Given the description of an element on the screen output the (x, y) to click on. 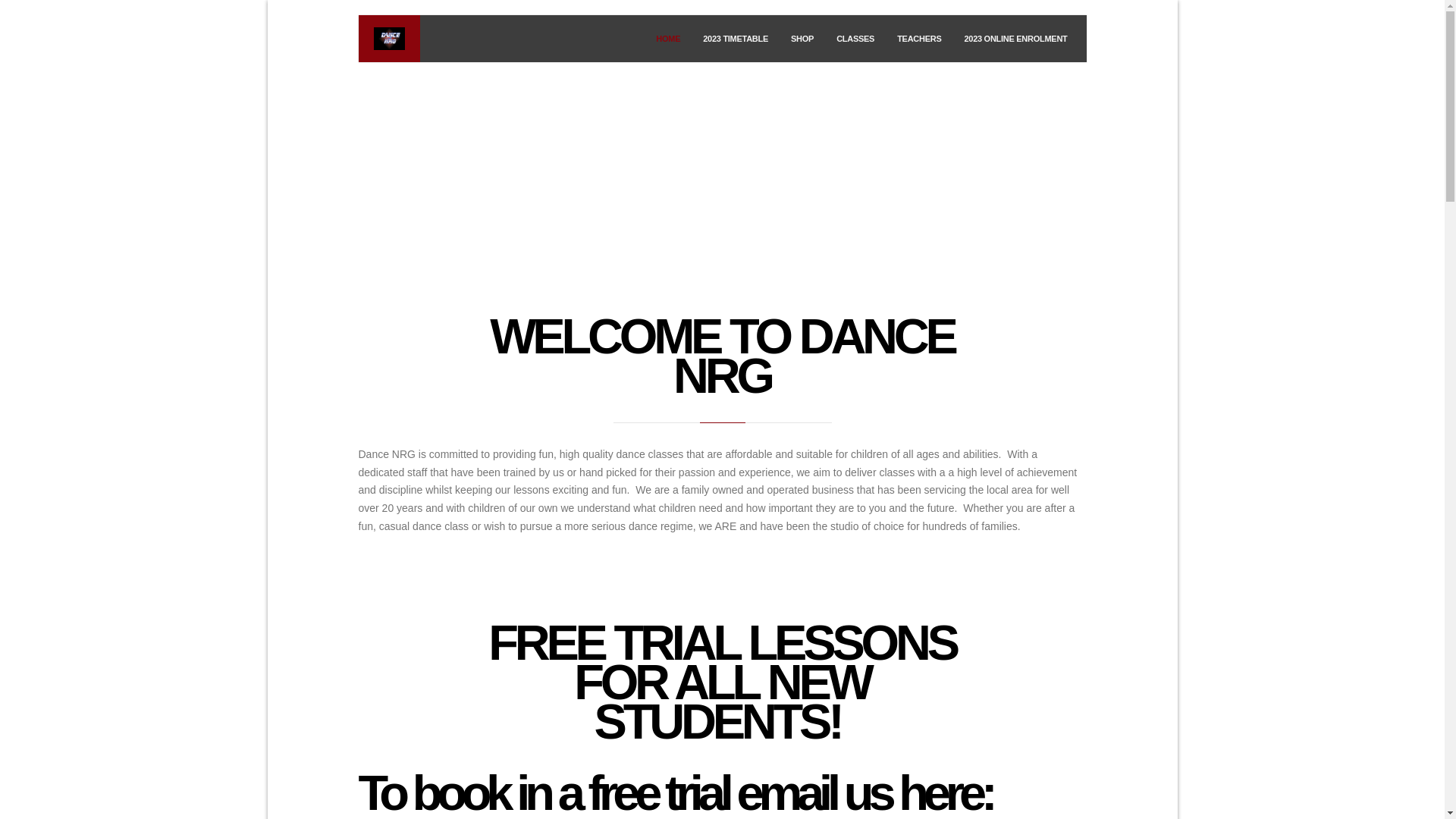
SHOP Element type: text (802, 38)
HOME Element type: text (667, 38)
TEACHERS Element type: text (918, 38)
2023 ONLINE ENROLMENT Element type: text (1015, 38)
CLASSES Element type: text (855, 38)
2023 TIMETABLE Element type: text (735, 38)
